Given the description of an element on the screen output the (x, y) to click on. 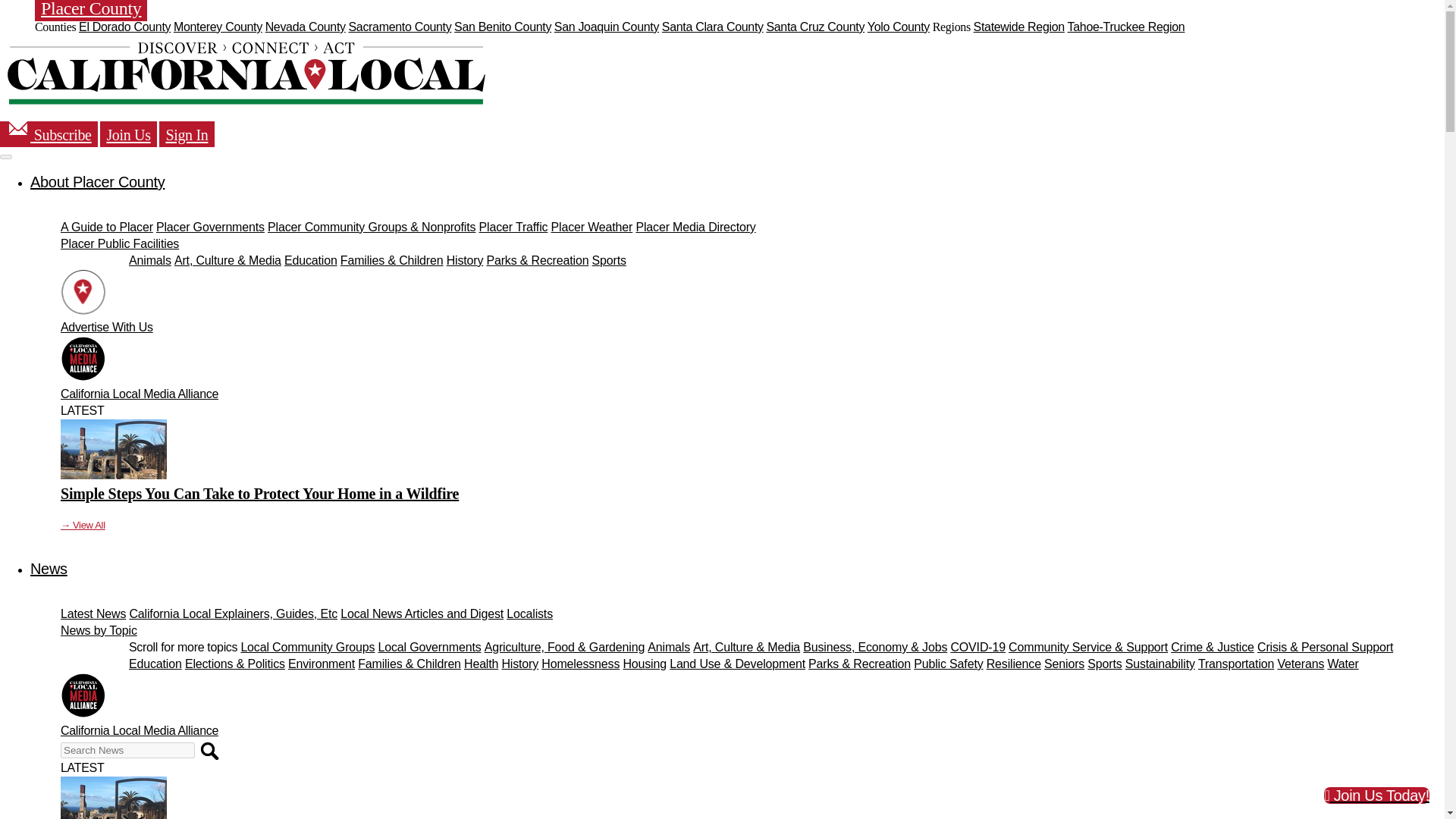
News (48, 568)
Sign In (186, 134)
All about Placer. (97, 181)
Join Us (127, 134)
A Guide to Placer (106, 226)
California Local Explainers, Guides, Etc (233, 613)
Placer Governments (209, 226)
Latest News (93, 613)
San Joaquin County (606, 26)
California Local Media Alliance (139, 393)
Placer Media Directory (694, 226)
Nevada County (305, 26)
Subscribe (48, 134)
Placer Weather (592, 226)
Advertise With Us (106, 327)
